Given the description of an element on the screen output the (x, y) to click on. 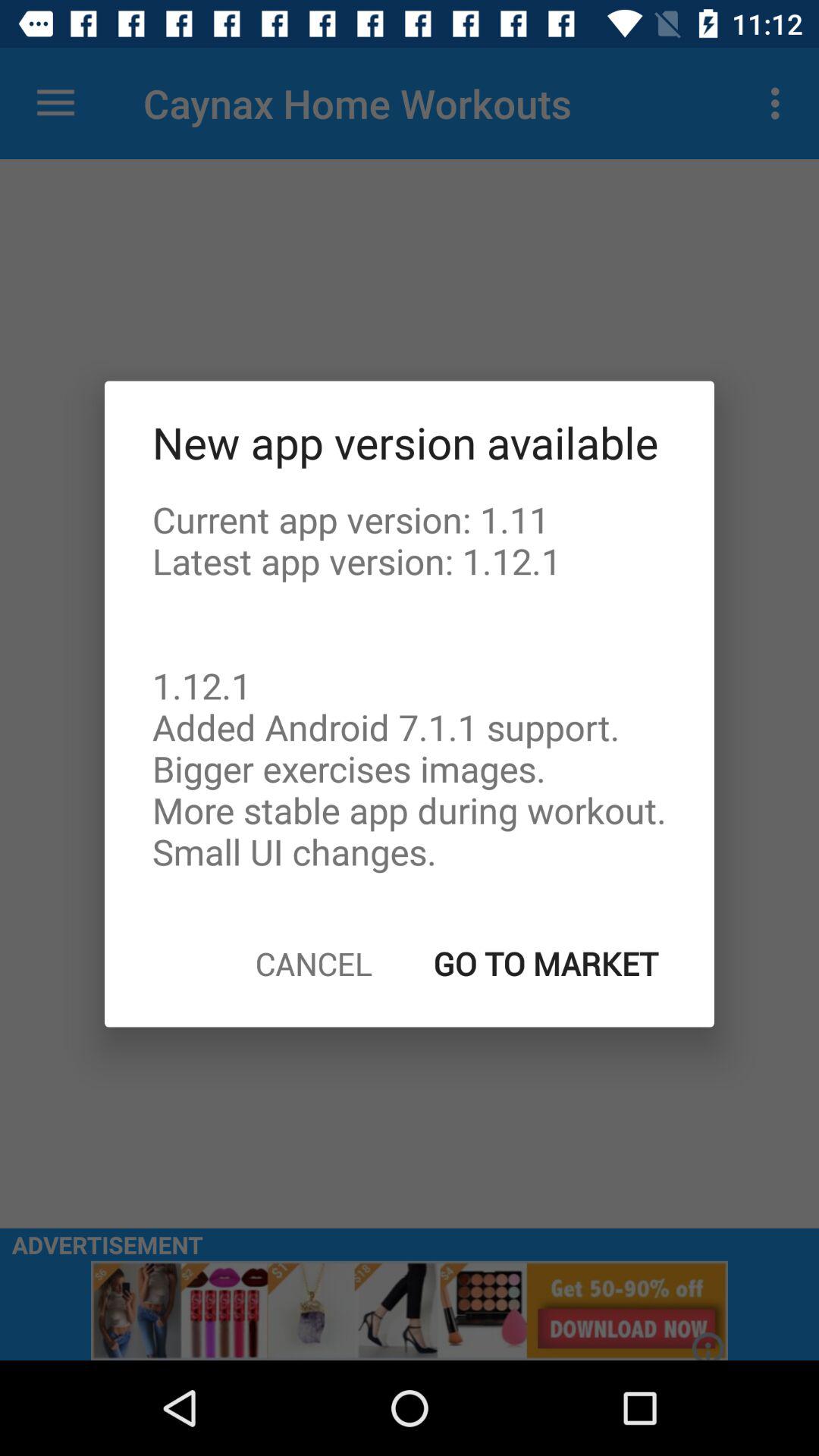
select the go to market icon (545, 963)
